Given the description of an element on the screen output the (x, y) to click on. 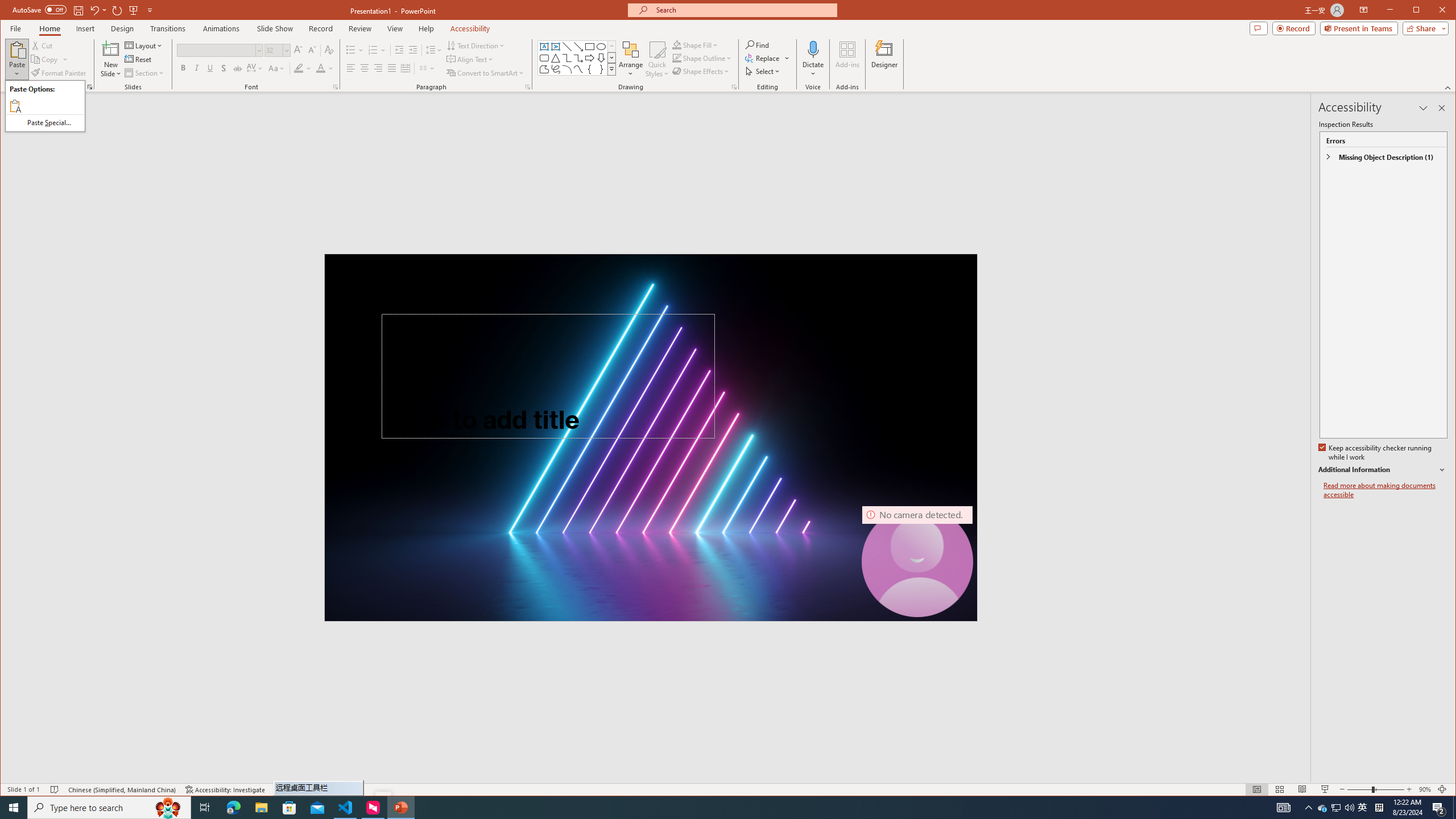
Camera 7, No camera detected. (917, 561)
